Given the description of an element on the screen output the (x, y) to click on. 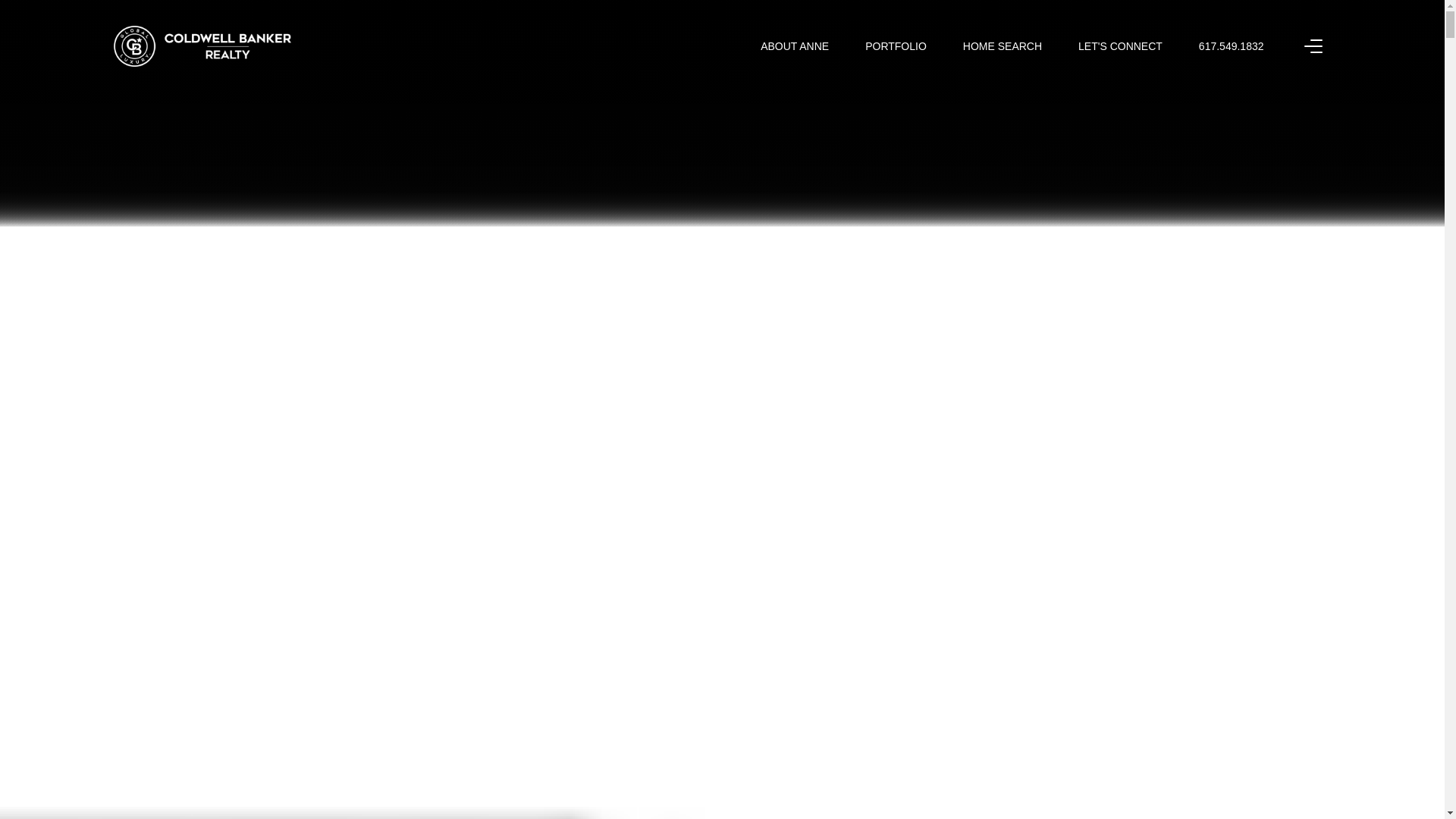
ABOUT ANNE (794, 46)
PORTFOLIO (895, 46)
617.549.1832 (1230, 46)
HOME SEARCH (1002, 46)
LET'S CONNECT (1119, 46)
